Given the description of an element on the screen output the (x, y) to click on. 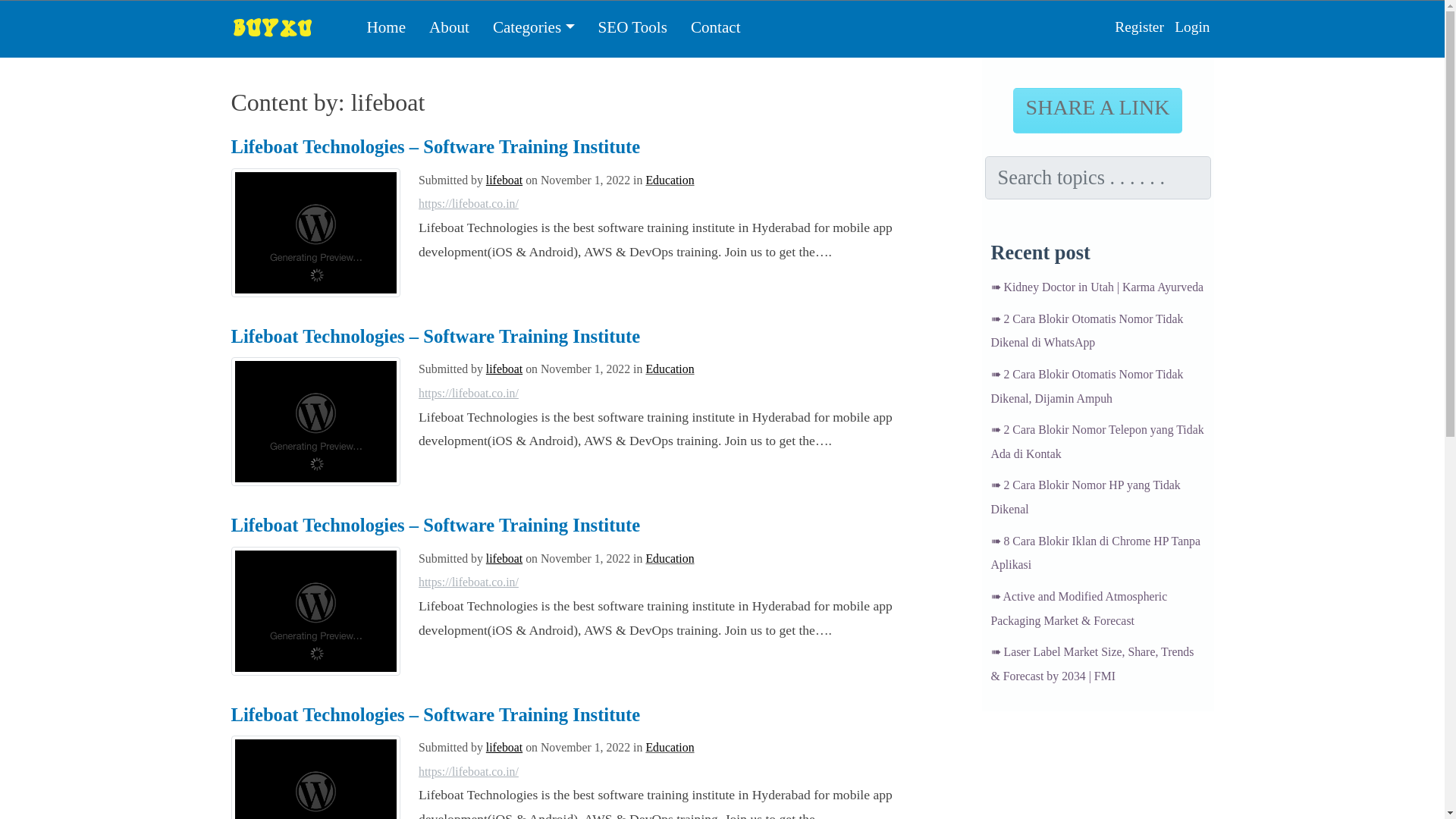
Register (1138, 26)
Education (669, 179)
lifeboat (504, 368)
Login (1191, 26)
Education (669, 558)
lifeboat (504, 558)
lifeboat (504, 747)
Contact (715, 26)
Education (669, 368)
SEO Tools (632, 26)
Education (669, 747)
About (449, 26)
2 Cara Blokir Otomatis Nomor Tidak Dikenal di WhatsApp (1086, 330)
Home (386, 26)
lifeboat (504, 179)
